Given the description of an element on the screen output the (x, y) to click on. 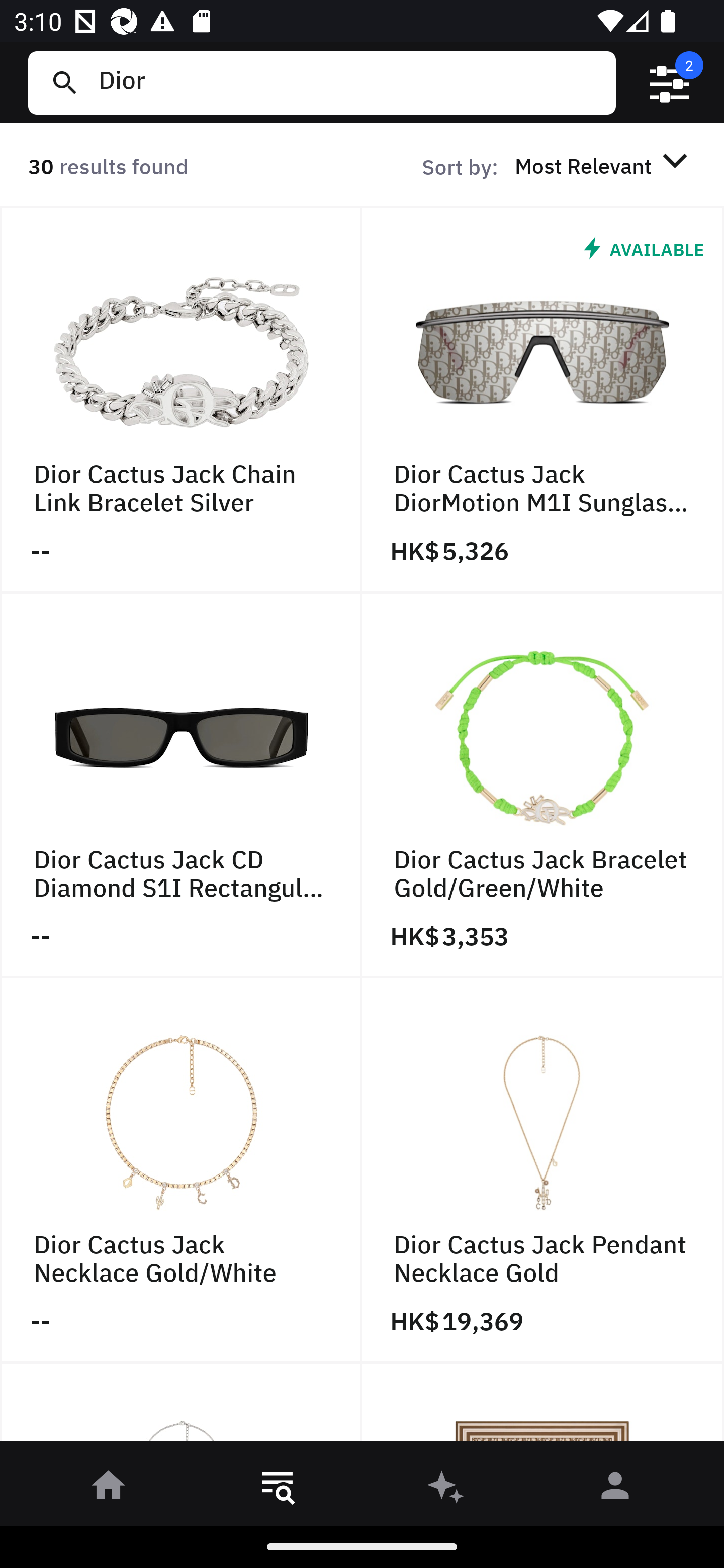
Dior (349, 82)
 (669, 82)
Most Relevant  (604, 165)
Dior Cactus Jack Chain Link Bracelet Silver -- (181, 399)
Dior Cactus Jack Necklace Gold/White -- (181, 1171)
Dior Cactus Jack Pendant Necklace Gold HK$ 19,369 (543, 1171)
󰋜 (108, 1488)
󱎸 (277, 1488)
󰫢 (446, 1488)
󰀄 (615, 1488)
